Given the description of an element on the screen output the (x, y) to click on. 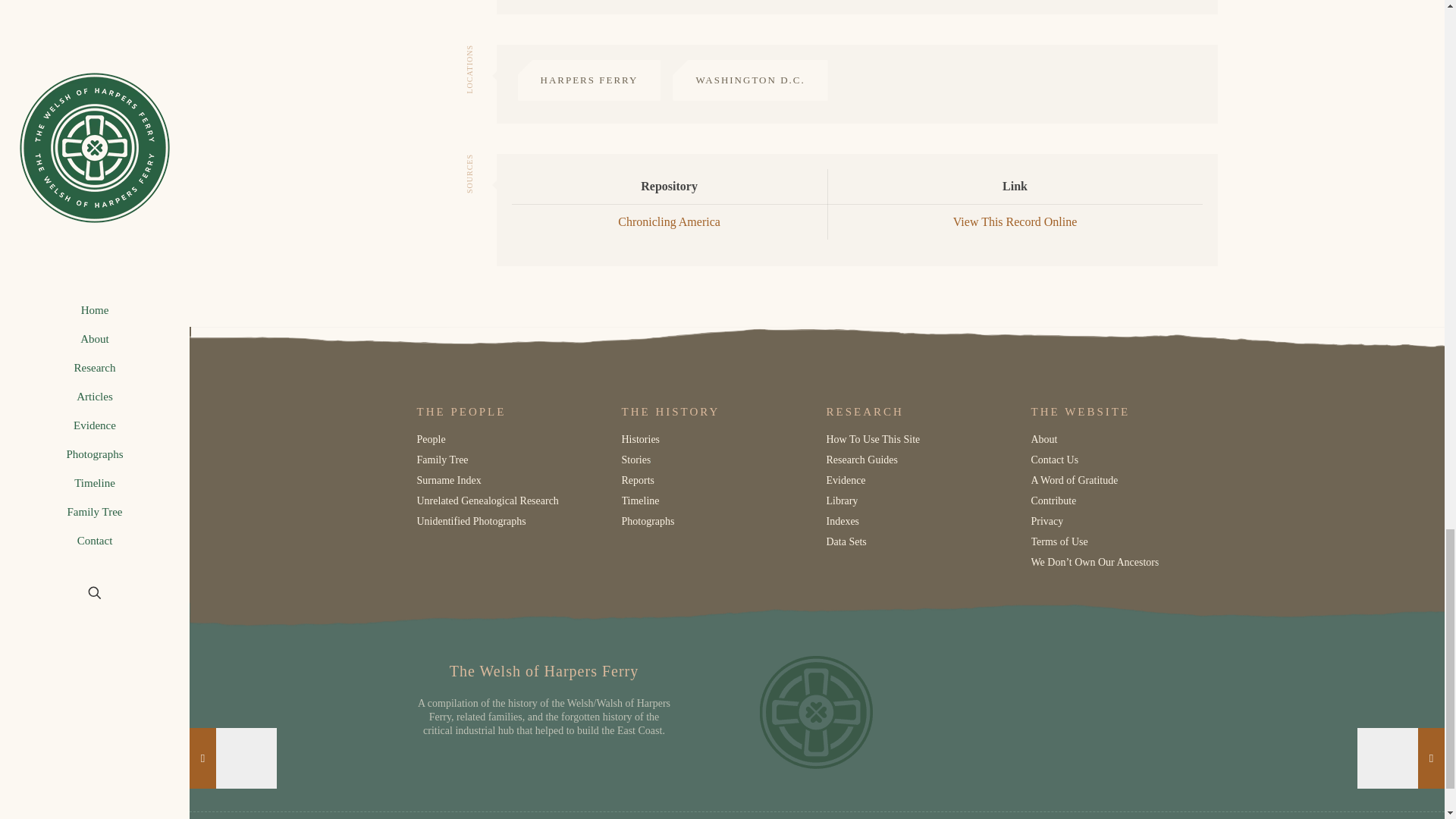
Family Tree (442, 459)
People (430, 439)
View This Record Online (1015, 221)
Chronicling America (668, 221)
HARPERS FERRY (588, 79)
WASHINGTON D.C. (749, 79)
Surname Index (448, 480)
